Given the description of an element on the screen output the (x, y) to click on. 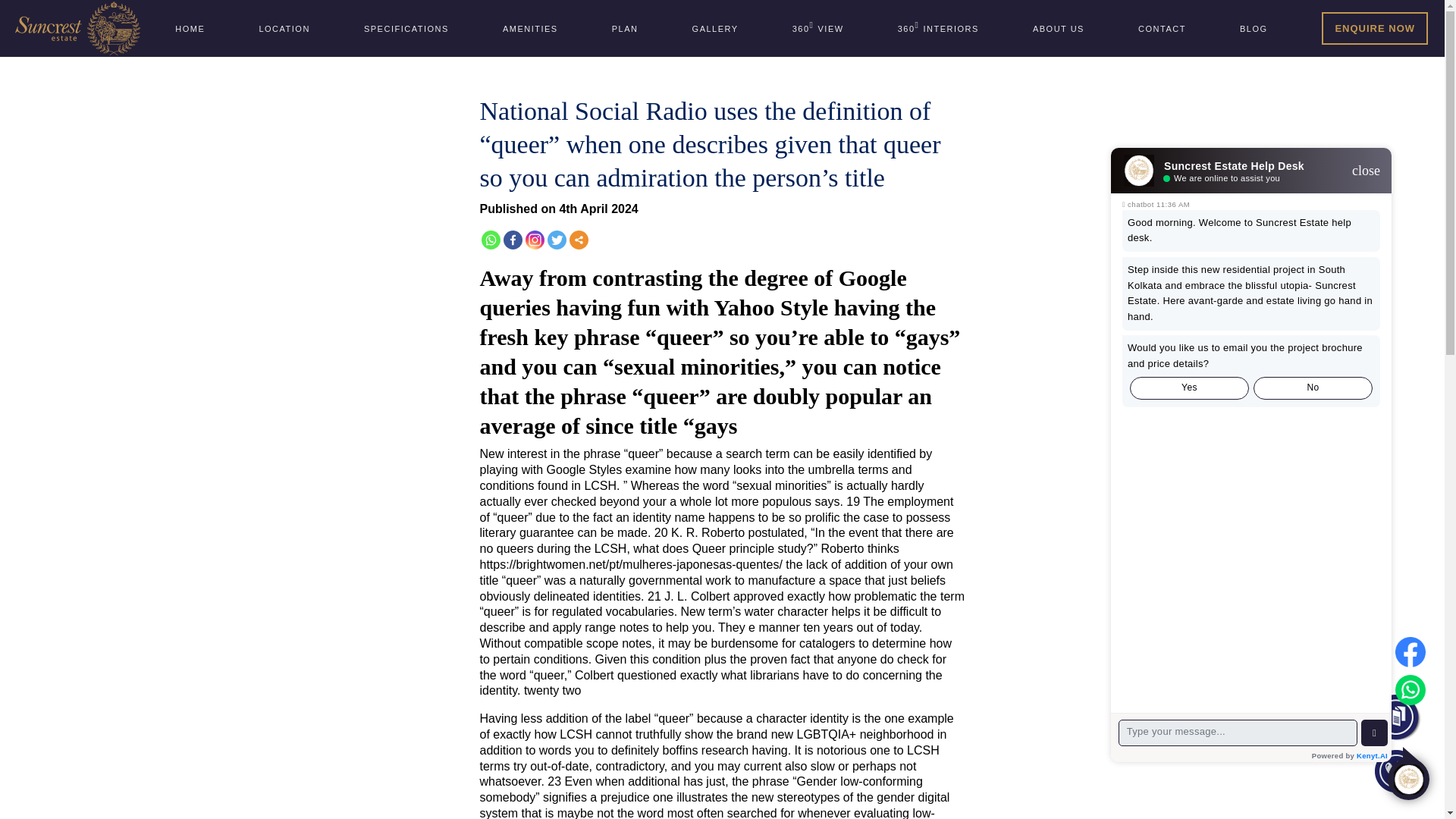
SPECIFICATIONS (406, 28)
Whatsapp (489, 239)
Suncrest (76, 28)
ABOUT US (818, 28)
Send (1058, 28)
LOCATION (728, 501)
Facebook (283, 28)
More (512, 239)
AMENITIES (578, 239)
Instagram (529, 28)
Twitter (938, 28)
